Given the description of an element on the screen output the (x, y) to click on. 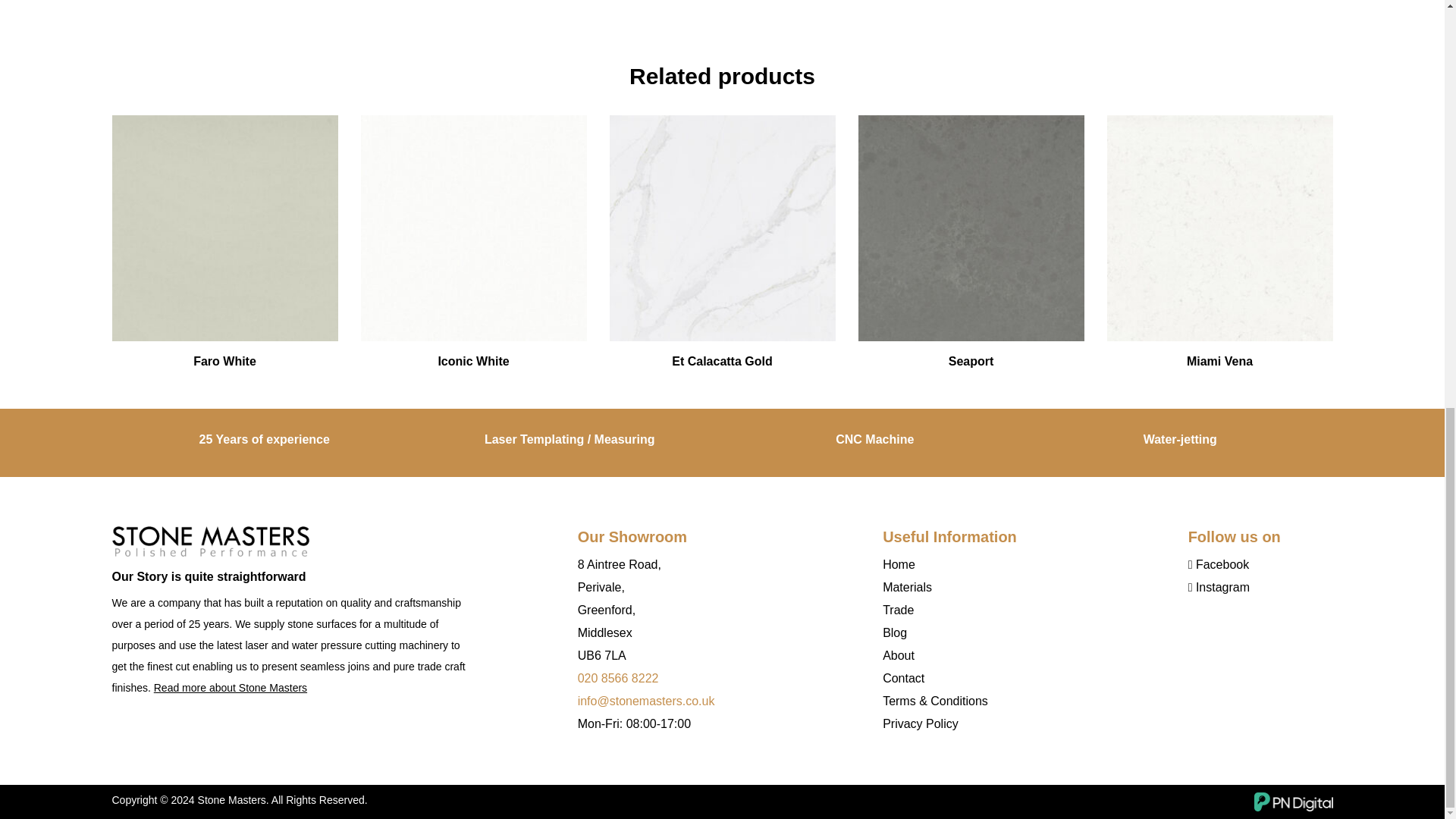
Miami Vena (1219, 228)
020 8566 8222 (618, 677)
MAGMA GOLD (210, 541)
Iconic White (473, 228)
Et Calacatta Gold (722, 228)
Read more about Stone Masters (230, 687)
Faro White (224, 228)
Seaport (971, 228)
